Given the description of an element on the screen output the (x, y) to click on. 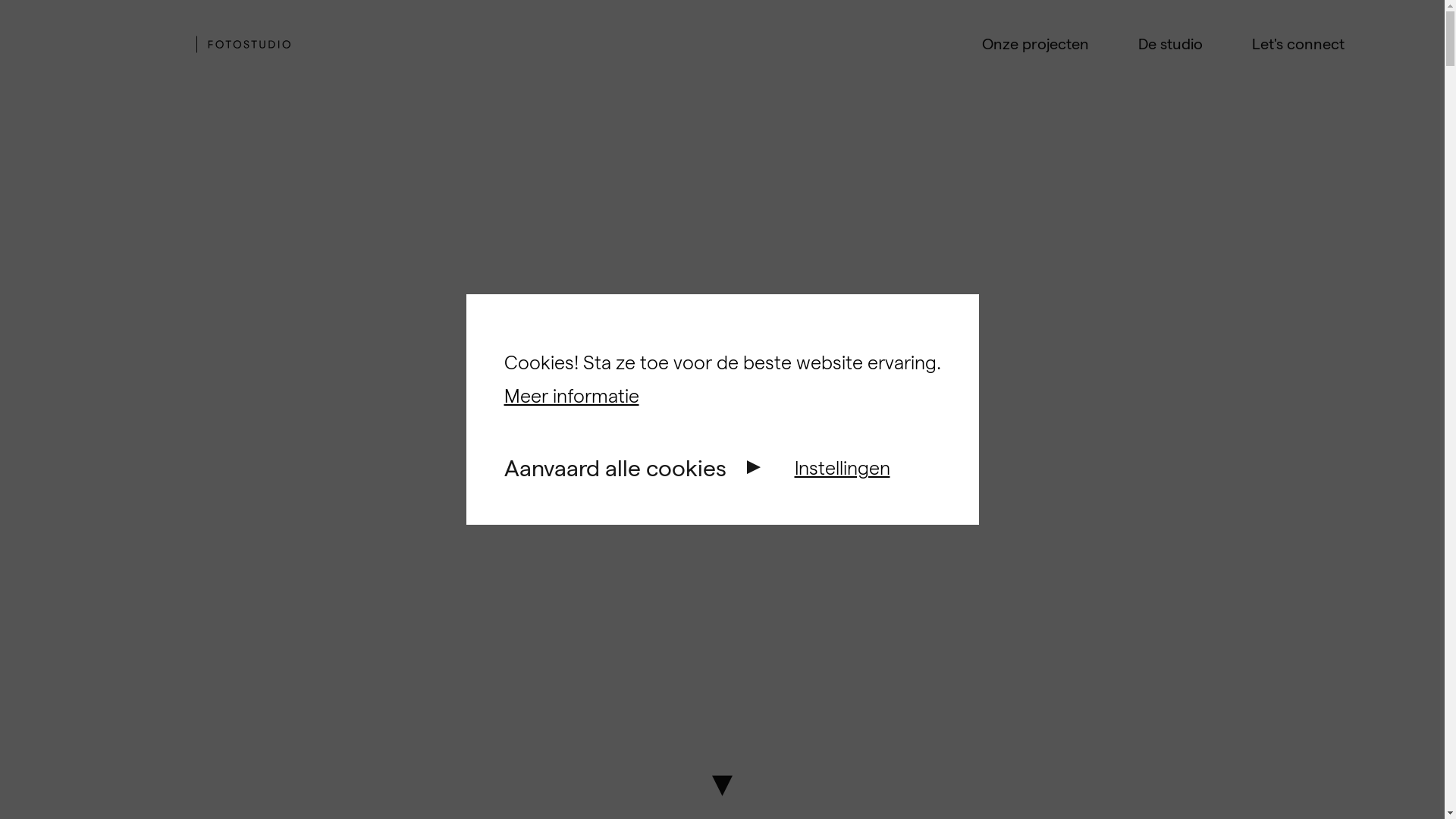
Meer informatie Element type: text (570, 395)
Let's connect Element type: text (1297, 43)
Onze projecten Element type: text (1034, 43)
De studio Element type: text (1169, 43)
Aanvaard alle cookies Element type: text (614, 467)
Instellingen Element type: text (842, 467)
